Given the description of an element on the screen output the (x, y) to click on. 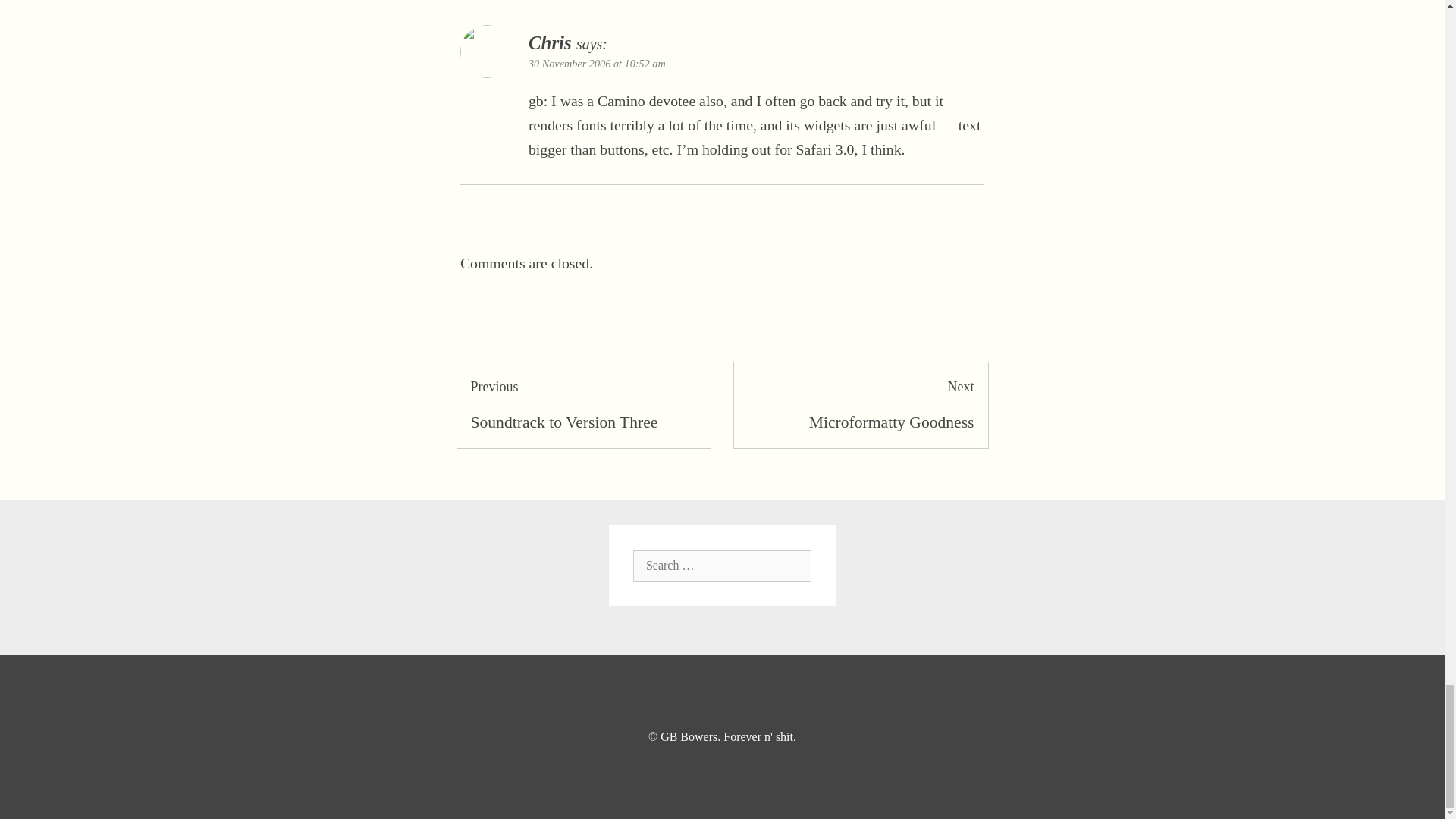
30 November 2006 at 10:52 am (860, 404)
